Given the description of an element on the screen output the (x, y) to click on. 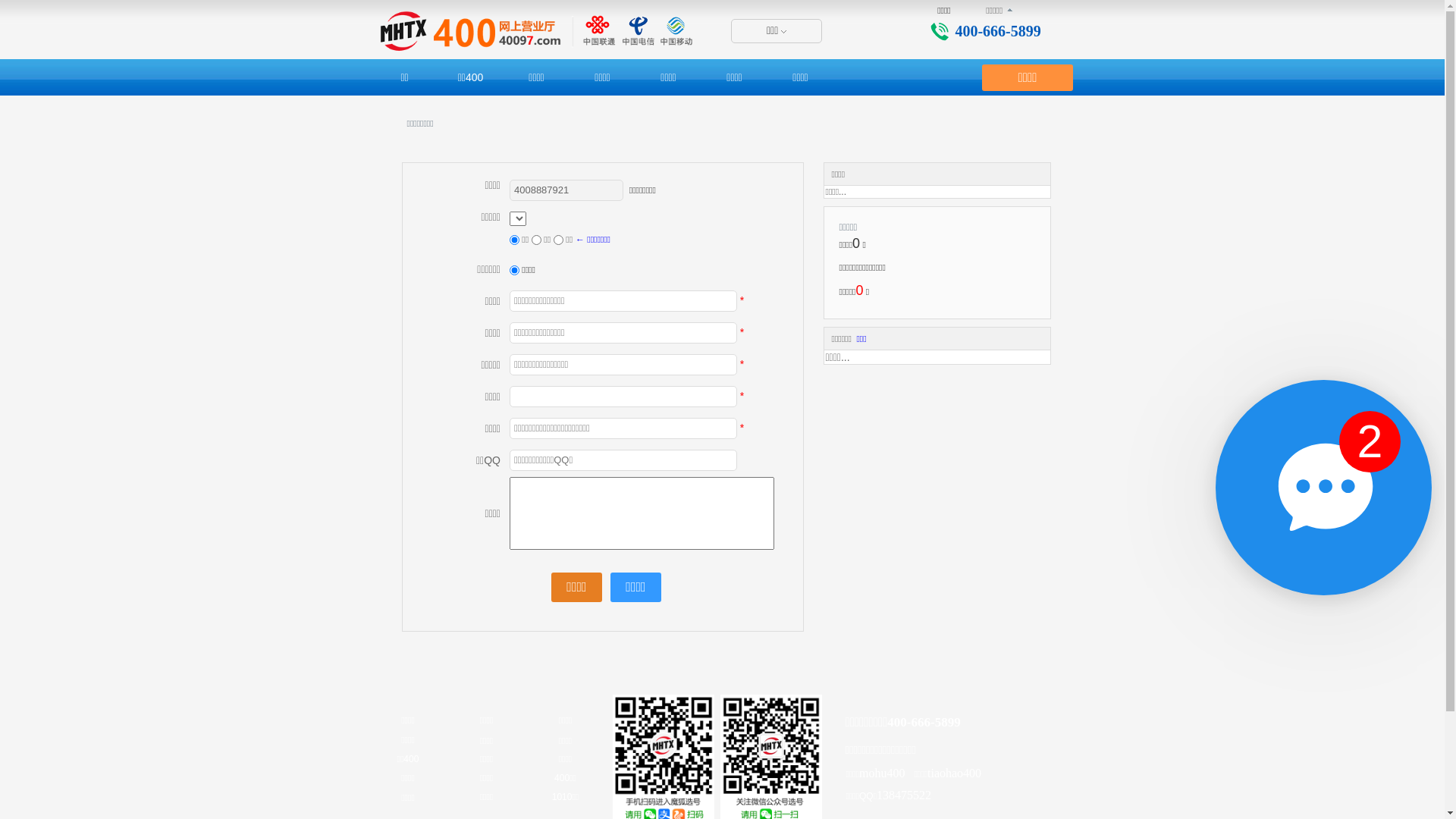
2 Element type: text (1369, 441)
2 Element type: text (1322, 487)
138475522 Element type: text (903, 795)
